Given the description of an element on the screen output the (x, y) to click on. 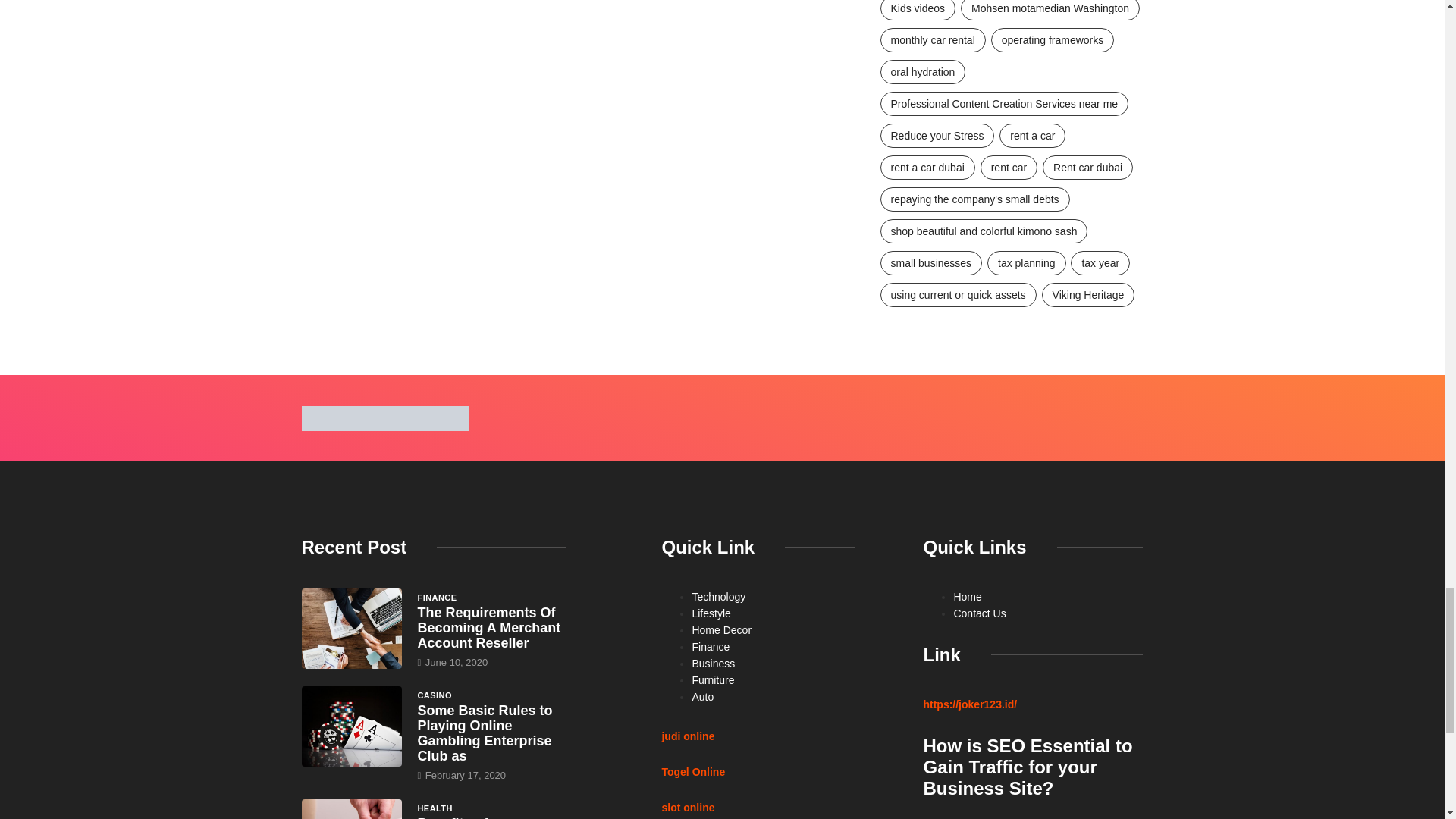
The Requirements Of Becoming A Merchant Account Reseller (352, 628)
The Requirements Of Becoming A Merchant Account Reseller (488, 627)
